Given the description of an element on the screen output the (x, y) to click on. 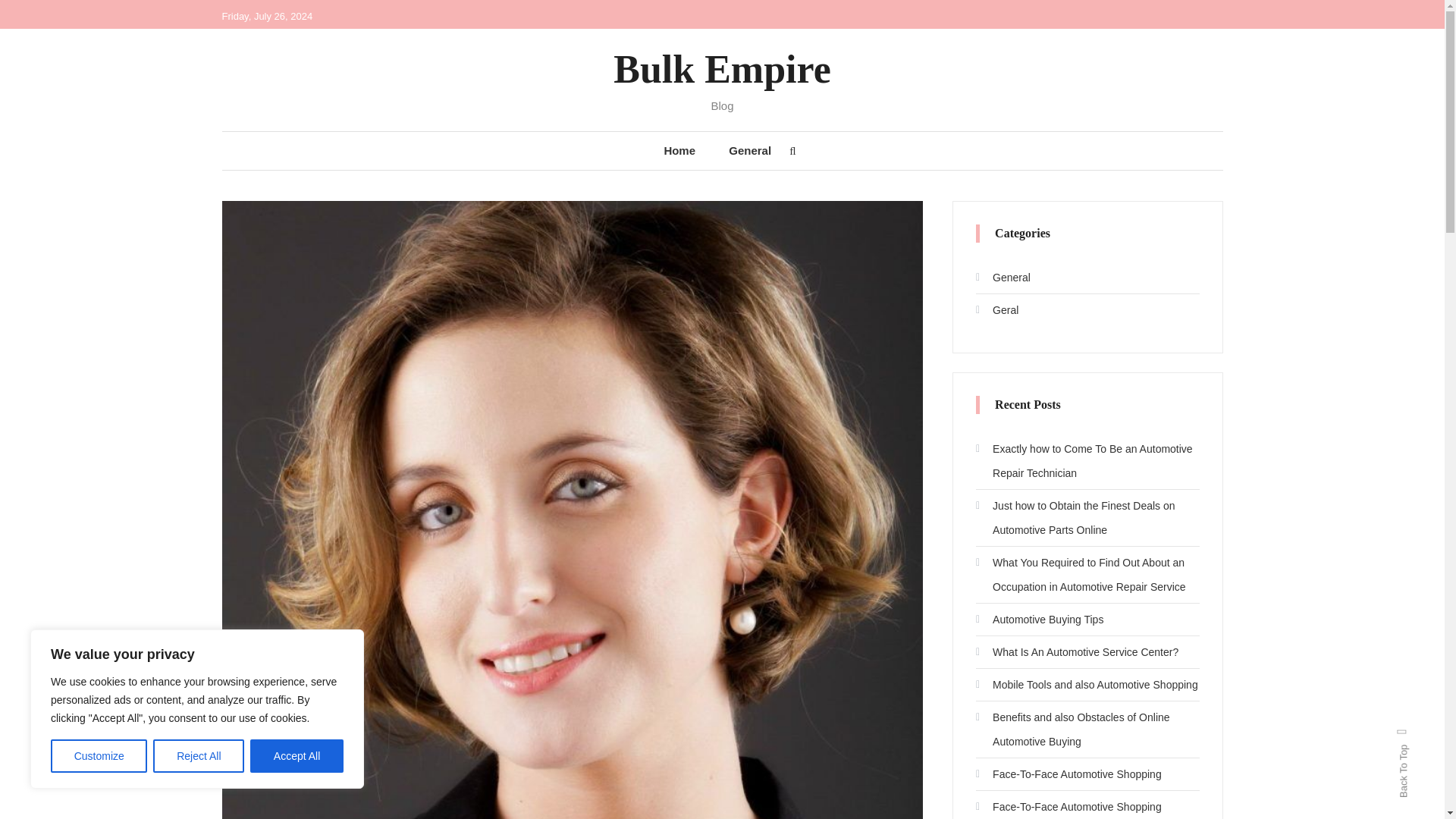
Reject All (198, 756)
Accept All (296, 756)
Bulk Empire (721, 68)
Customize (98, 756)
General (749, 150)
Exactly how to Come To Be an Automotive Repair Technician (1086, 460)
Home (678, 150)
Geral (996, 310)
General (1002, 277)
